Given the description of an element on the screen output the (x, y) to click on. 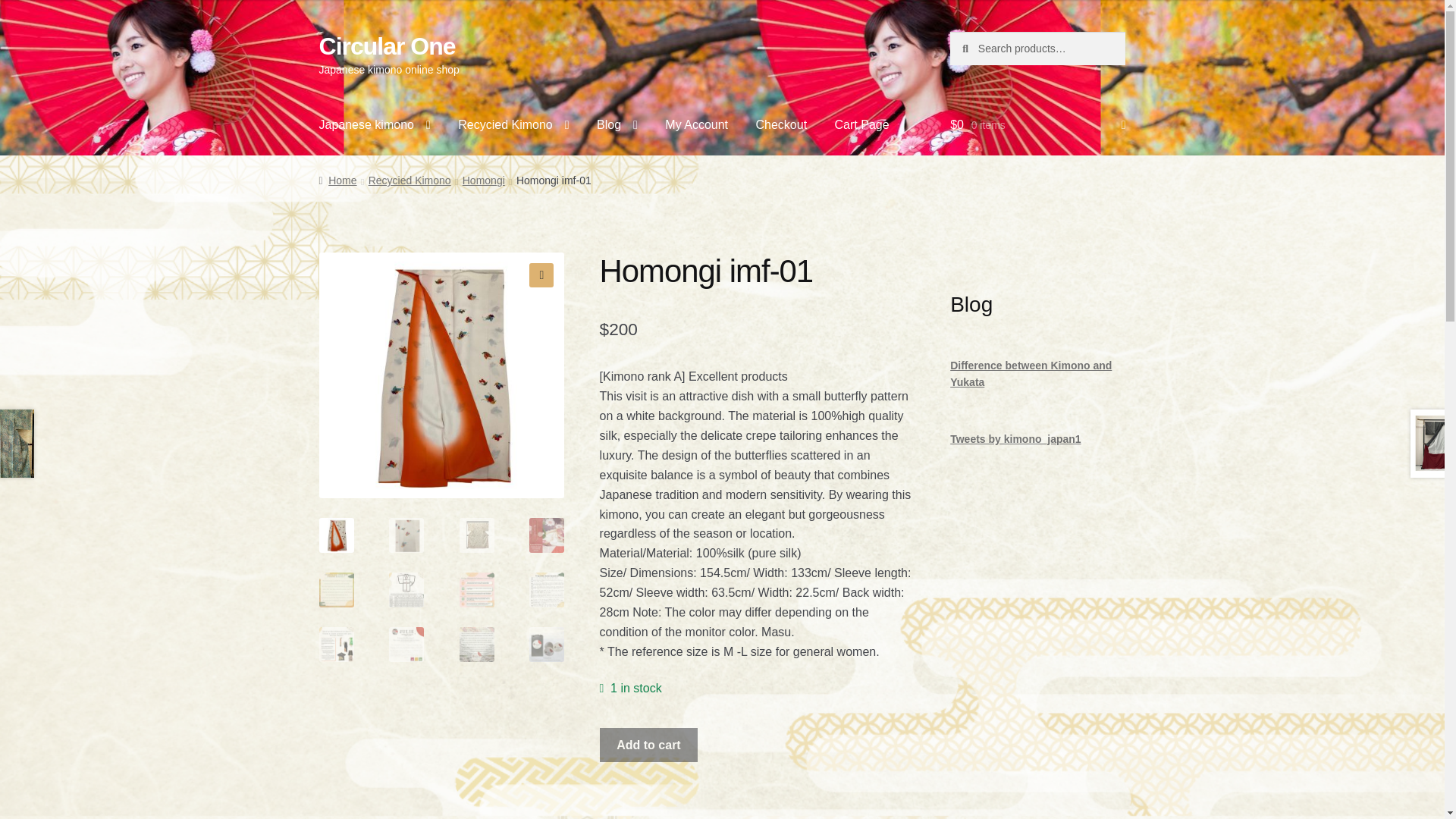
Checkout (781, 124)
Cart Page (861, 124)
Recycied Kimono (512, 124)
View your shopping cart (1037, 124)
My Account (695, 124)
Blog (617, 124)
im-f01-2 (686, 374)
im-f01-1 (441, 374)
Japanese kimono (374, 124)
Circular One (386, 45)
